Given the description of an element on the screen output the (x, y) to click on. 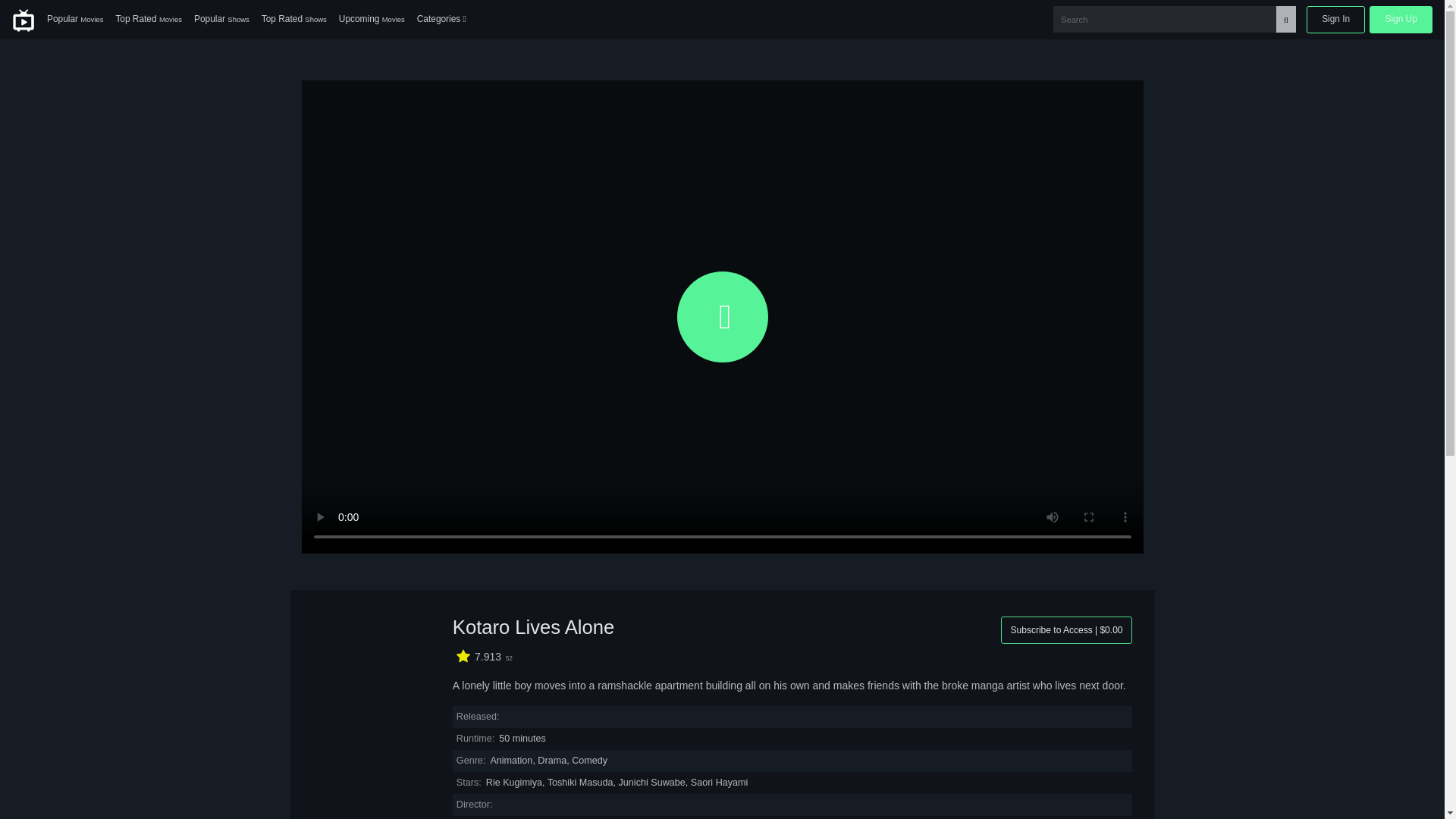
Popular Shows (221, 19)
Categories (440, 19)
Top Rated Movies (148, 19)
Popular Movies (74, 19)
Upcoming Movies (371, 19)
Top Rated Shows (294, 19)
